Given the description of an element on the screen output the (x, y) to click on. 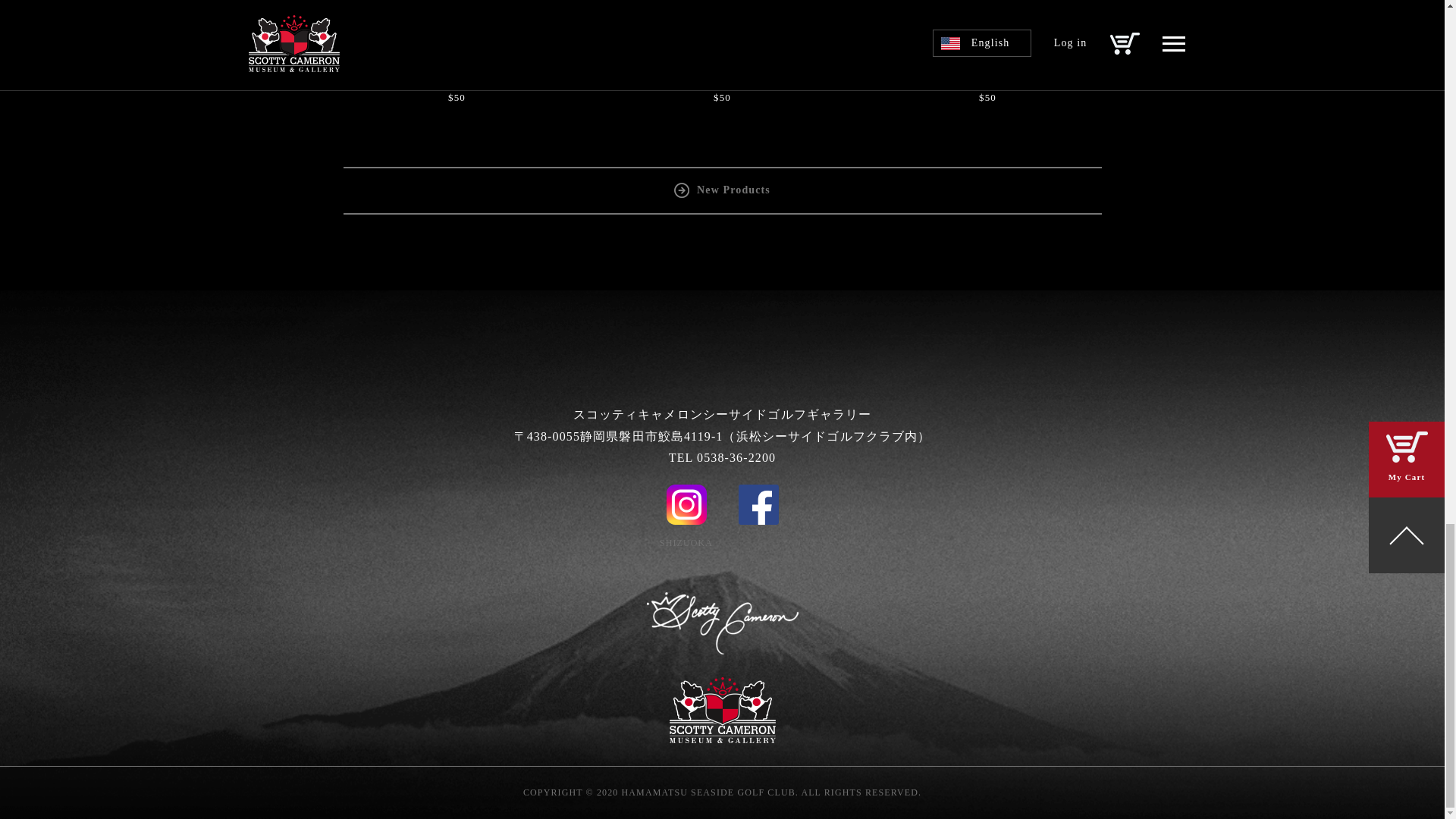
0538-36-2200 (736, 457)
New Products (722, 190)
